Given the description of an element on the screen output the (x, y) to click on. 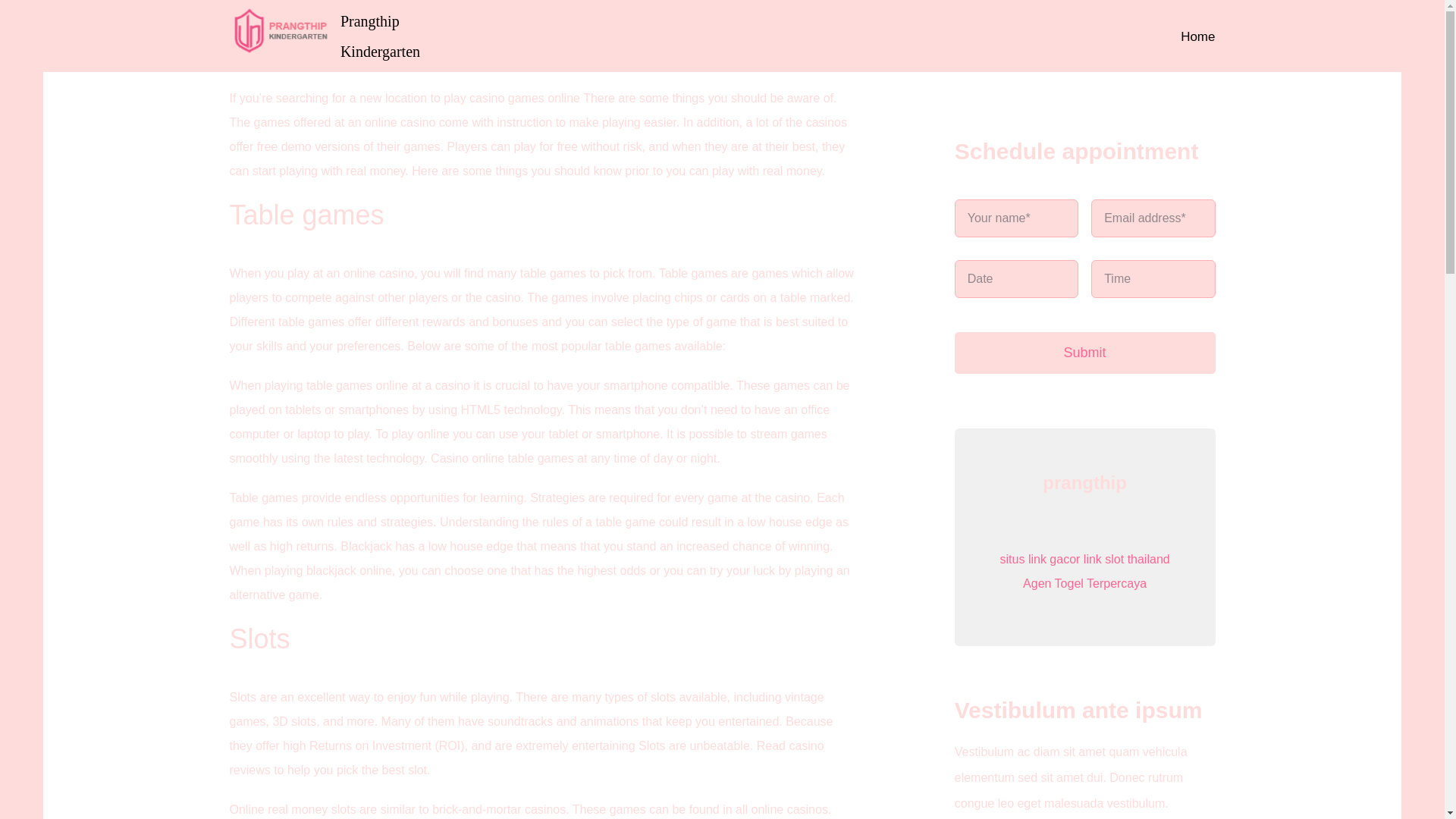
link slot thailand (1126, 558)
situs link gacor (1040, 558)
Agen Togel Terpercaya (1085, 583)
Submit (1085, 352)
Submit (1085, 286)
